Given the description of an element on the screen output the (x, y) to click on. 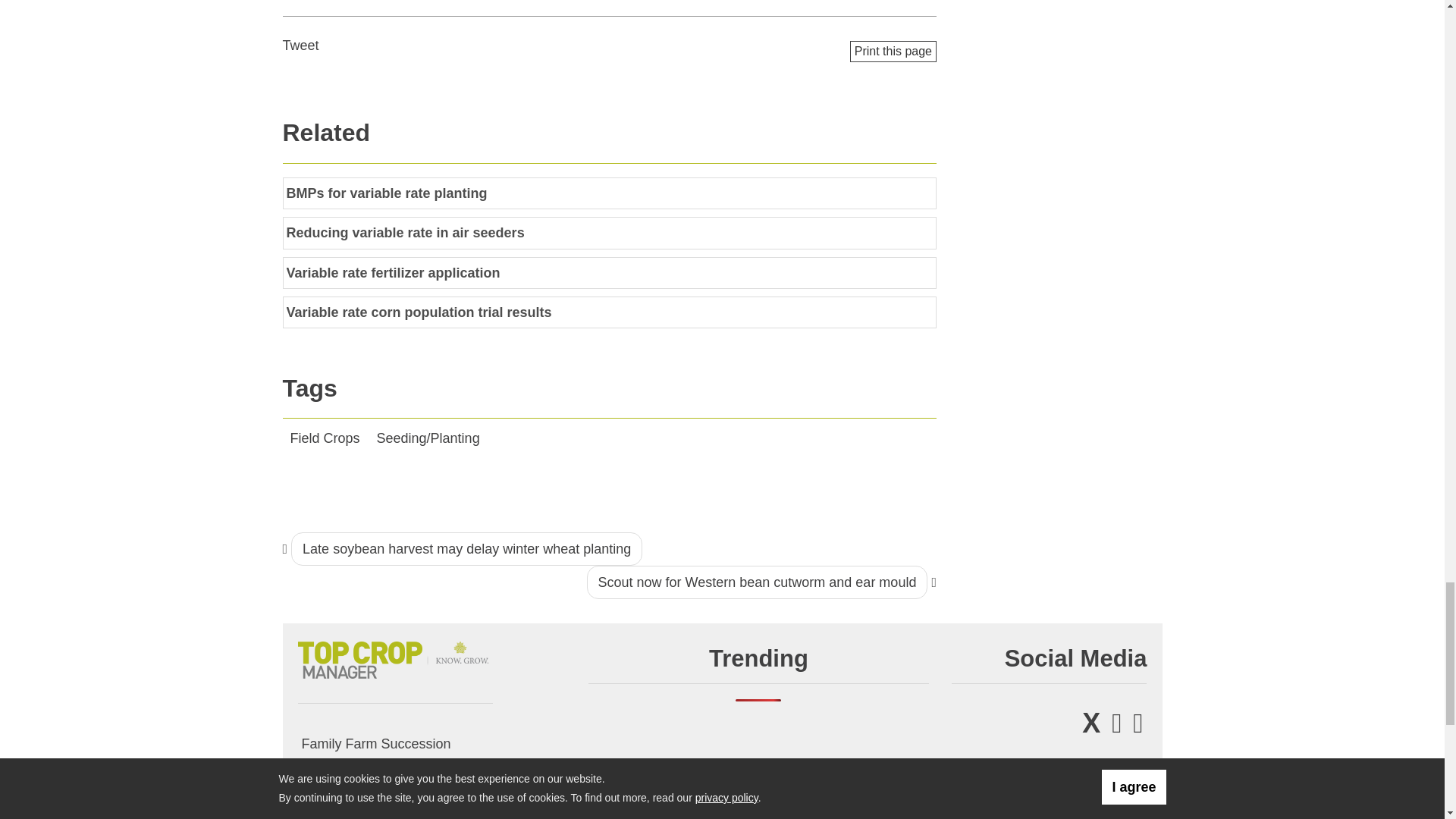
Top Crop Manager (395, 657)
